Given the description of an element on the screen output the (x, y) to click on. 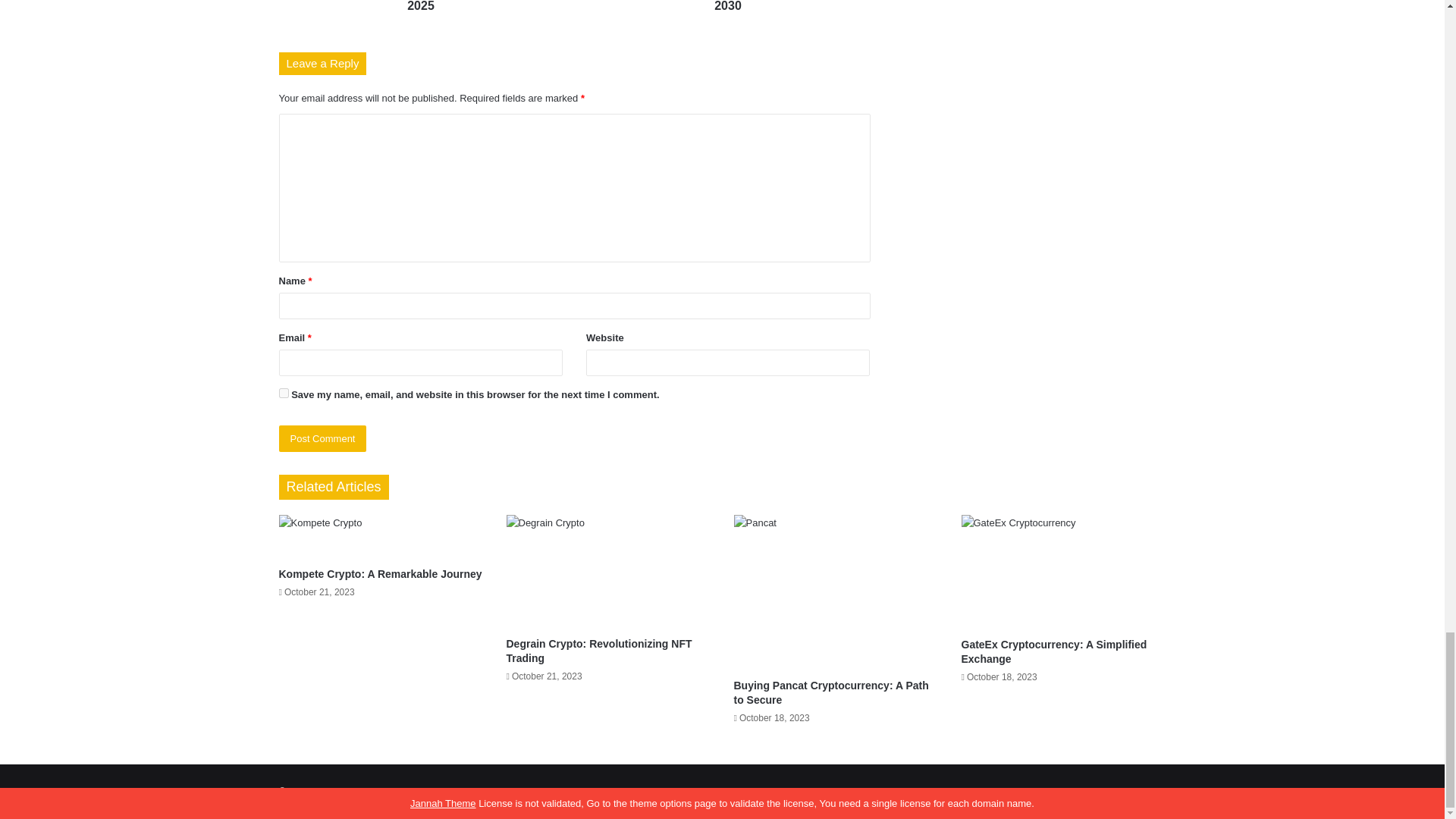
Post Comment (322, 438)
yes (283, 393)
